Given the description of an element on the screen output the (x, y) to click on. 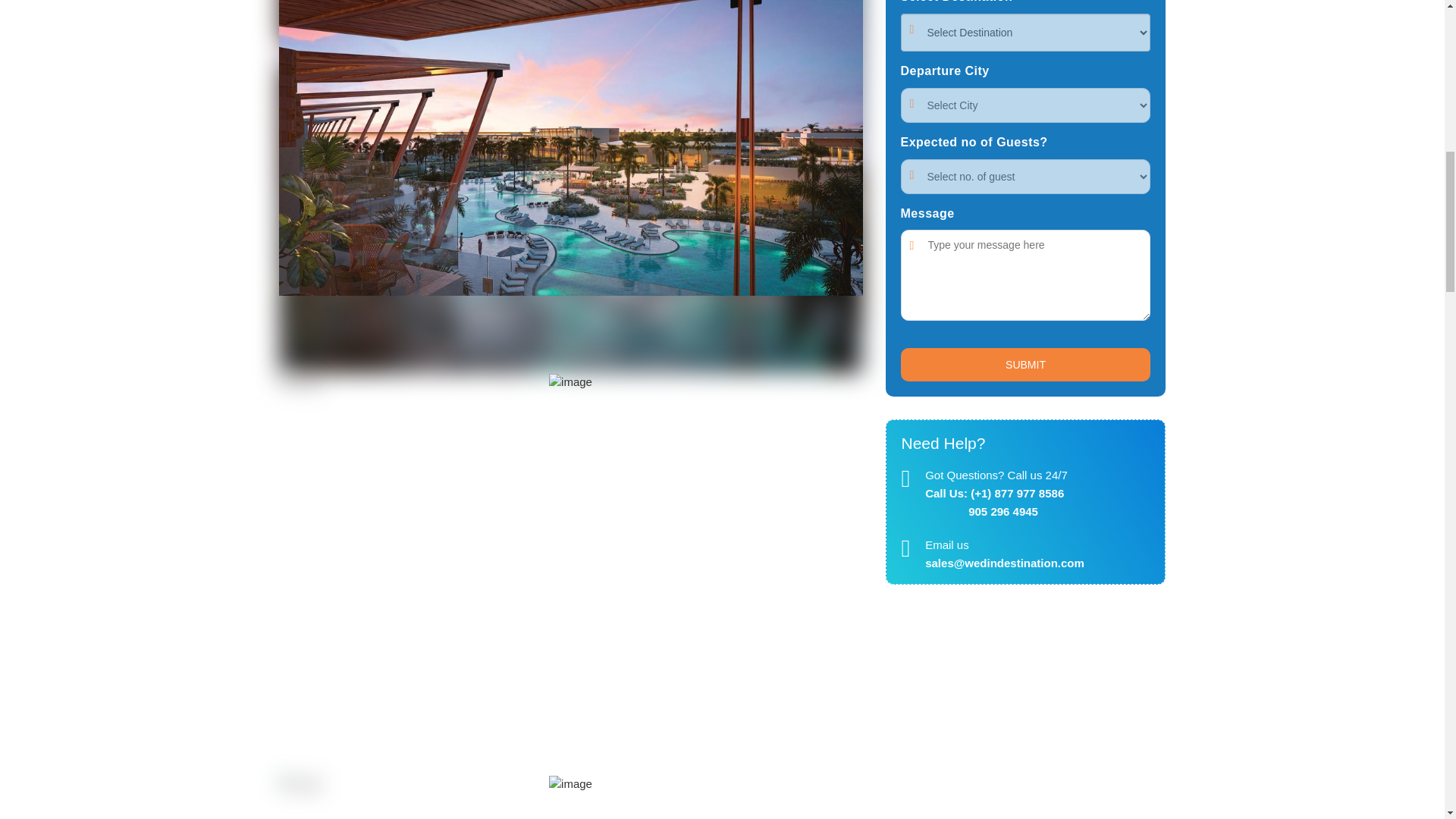
SUBMIT (1026, 364)
905 296 4945 (981, 511)
